Given the description of an element on the screen output the (x, y) to click on. 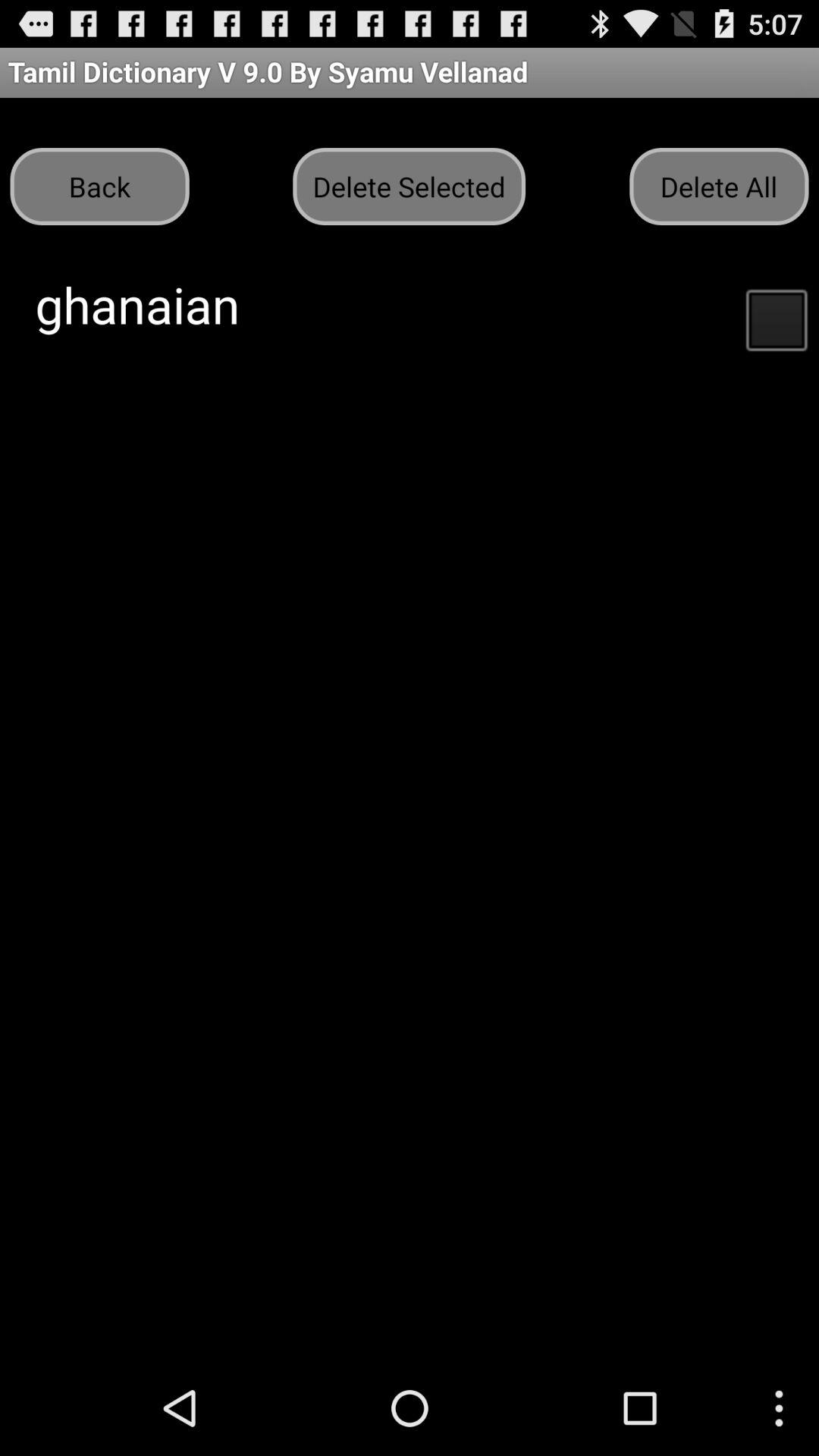
launch icon below the tamil dictionary v item (99, 186)
